Given the description of an element on the screen output the (x, y) to click on. 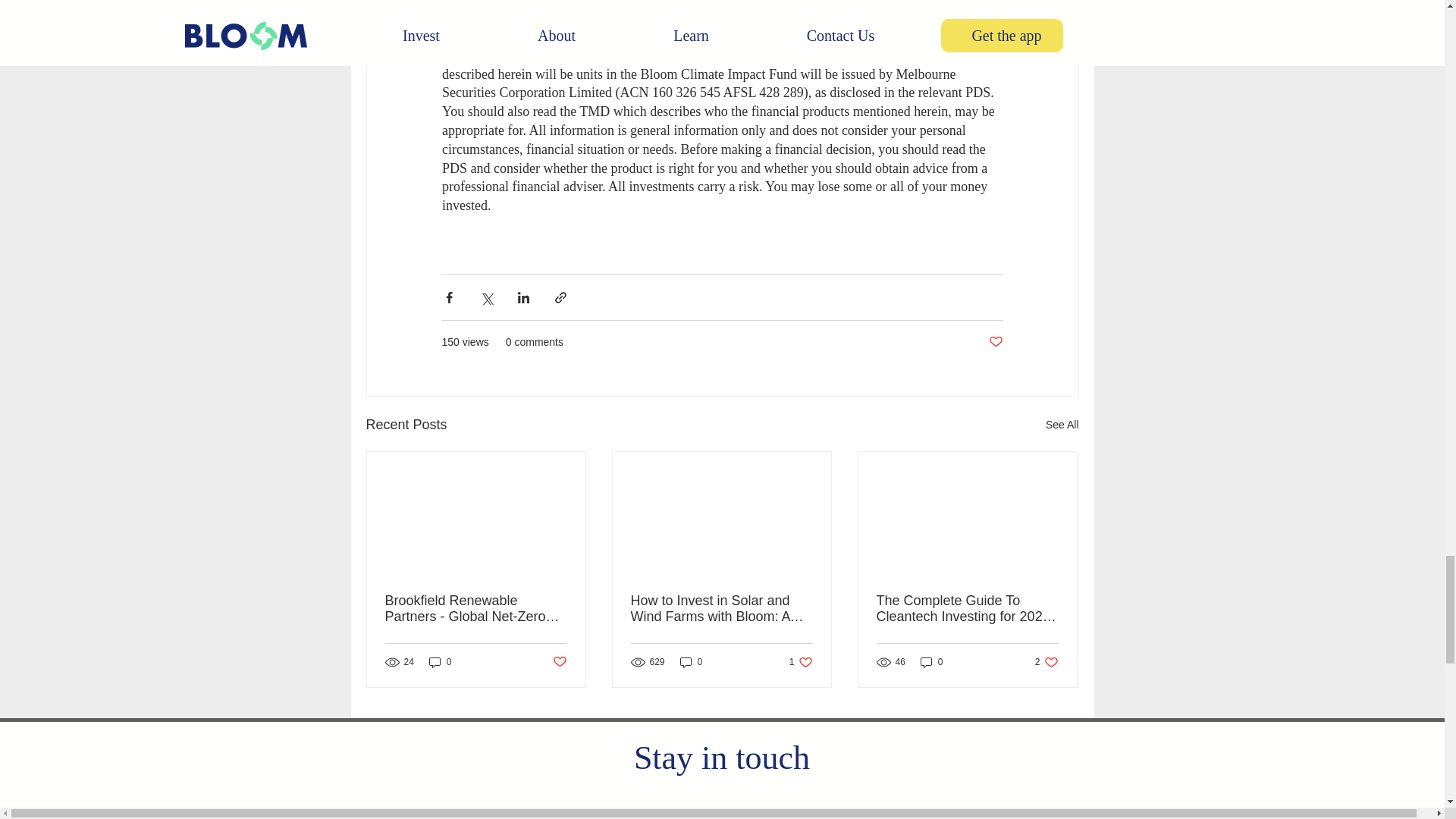
Post not marked as liked (995, 342)
0 (440, 662)
See All (1061, 424)
0 (800, 662)
Post not marked as liked (691, 662)
0 (558, 662)
